Given the description of an element on the screen output the (x, y) to click on. 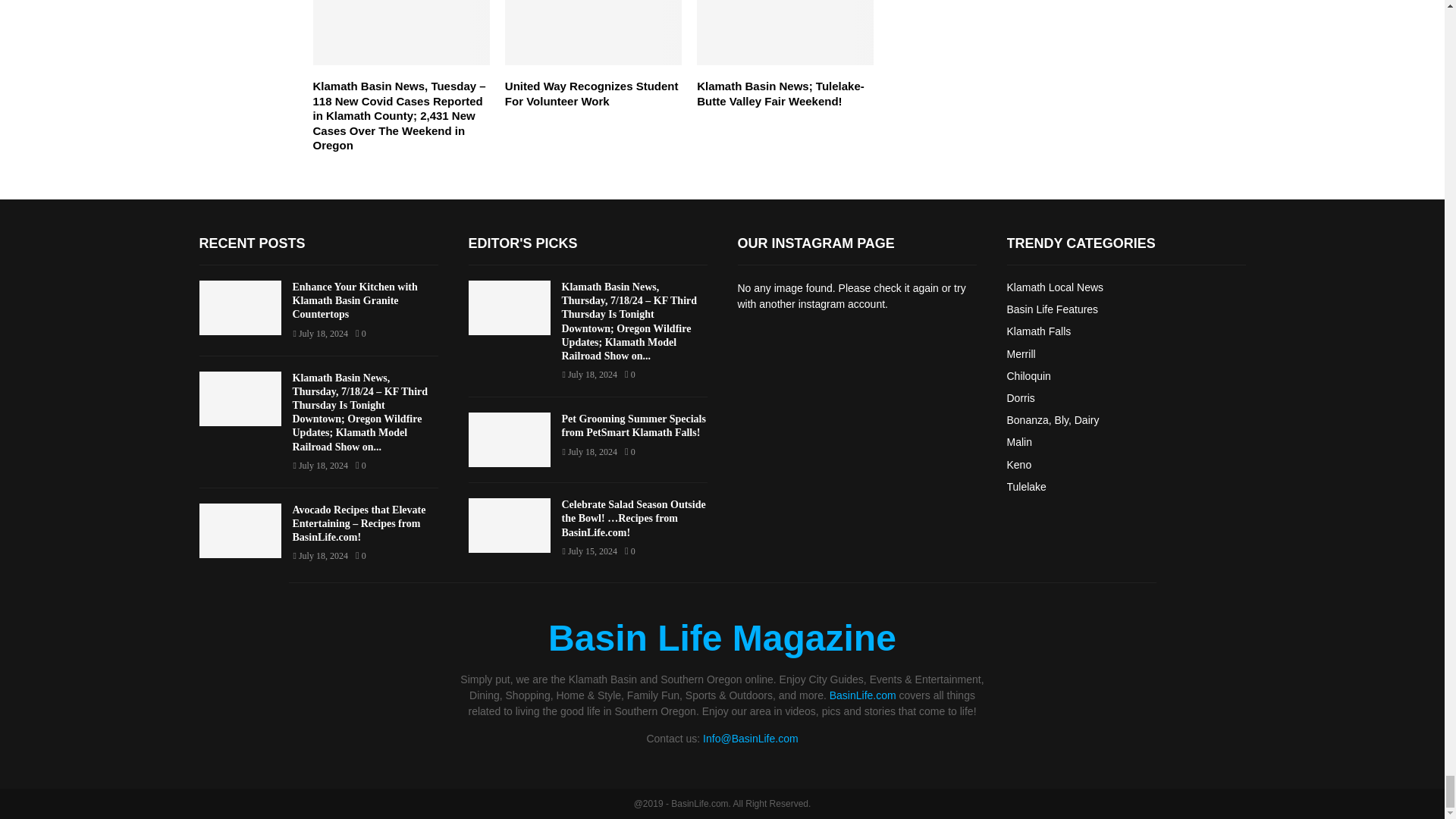
Enhance Your Kitchen with Klamath Basin Granite Countertops (239, 307)
